Given the description of an element on the screen output the (x, y) to click on. 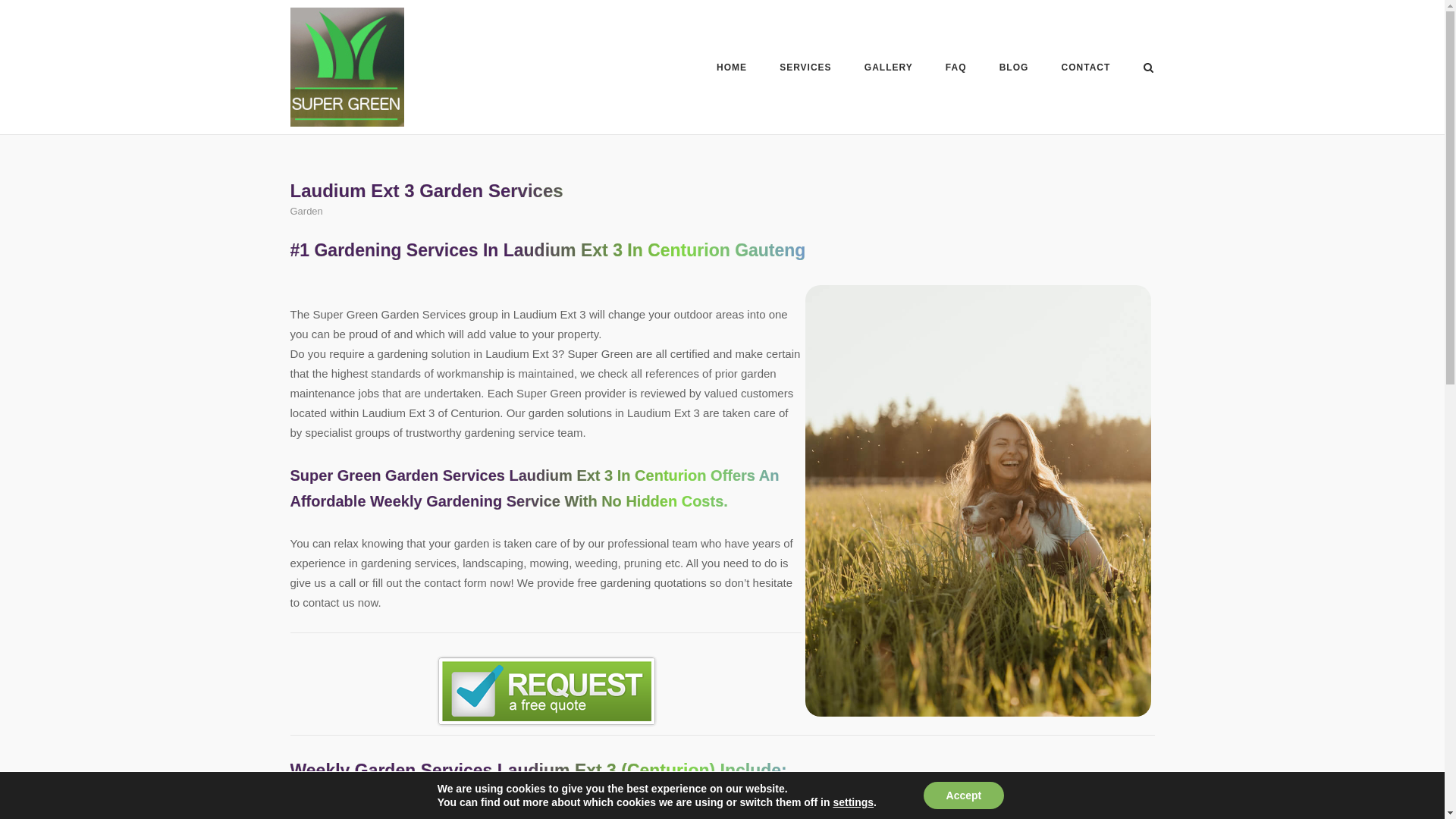
BLOG (1013, 69)
FAQ (955, 69)
SERVICES (804, 69)
GALLERY (888, 69)
CONTACT (1085, 69)
HOME (731, 69)
